Given the description of an element on the screen output the (x, y) to click on. 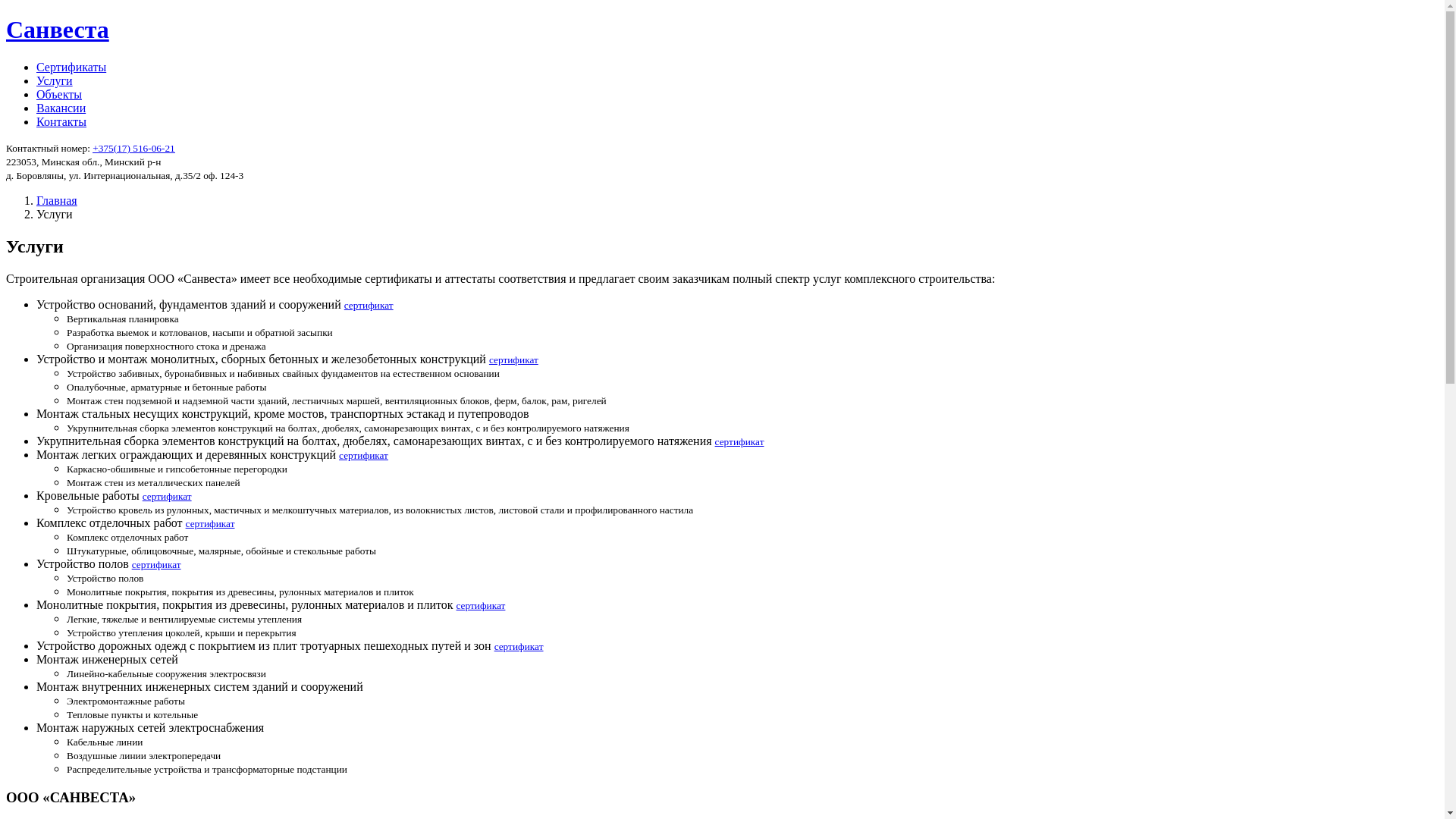
+375(17) 516-06-21 Element type: text (133, 147)
